Given the description of an element on the screen output the (x, y) to click on. 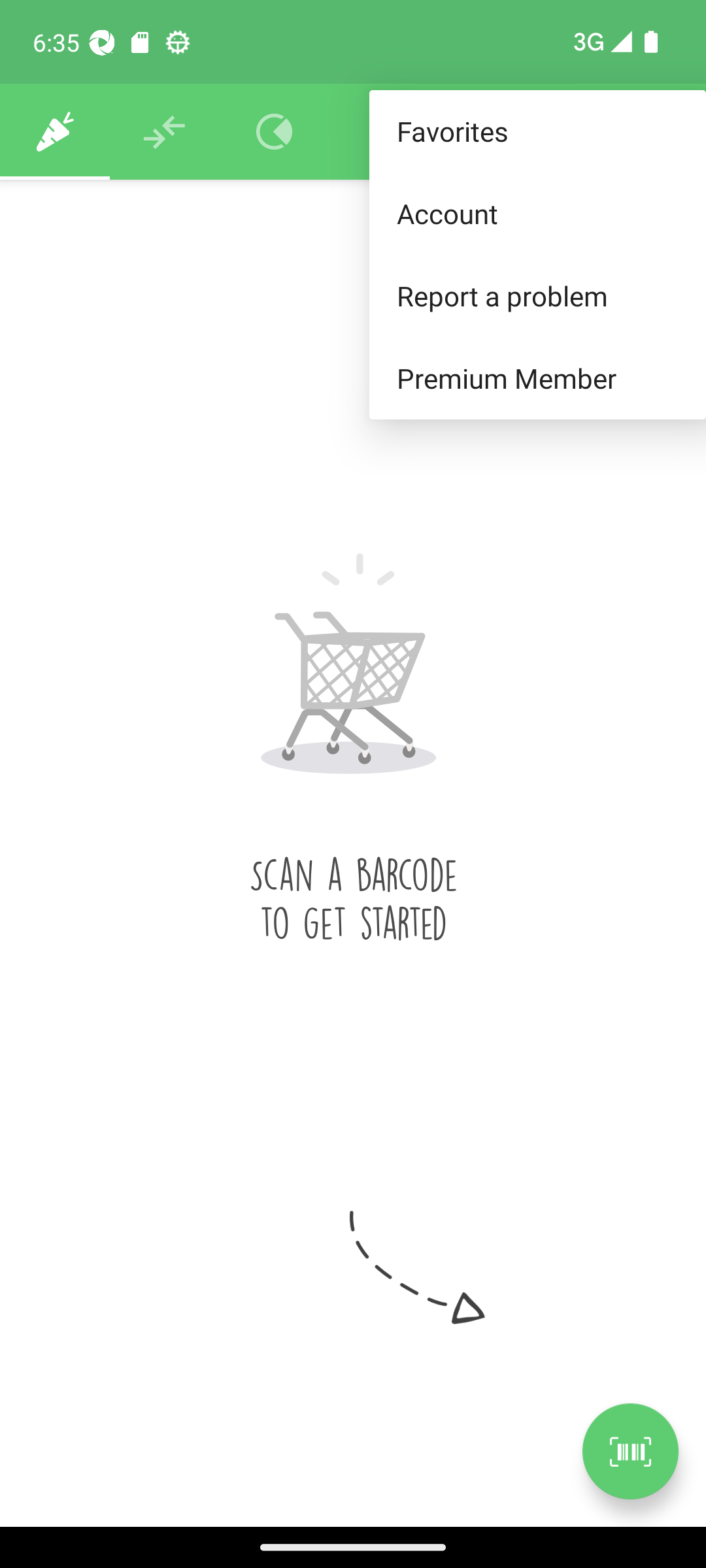
Favorites (537, 131)
Account (537, 213)
Report a problem (537, 295)
Premium Member (537, 378)
